Given the description of an element on the screen output the (x, y) to click on. 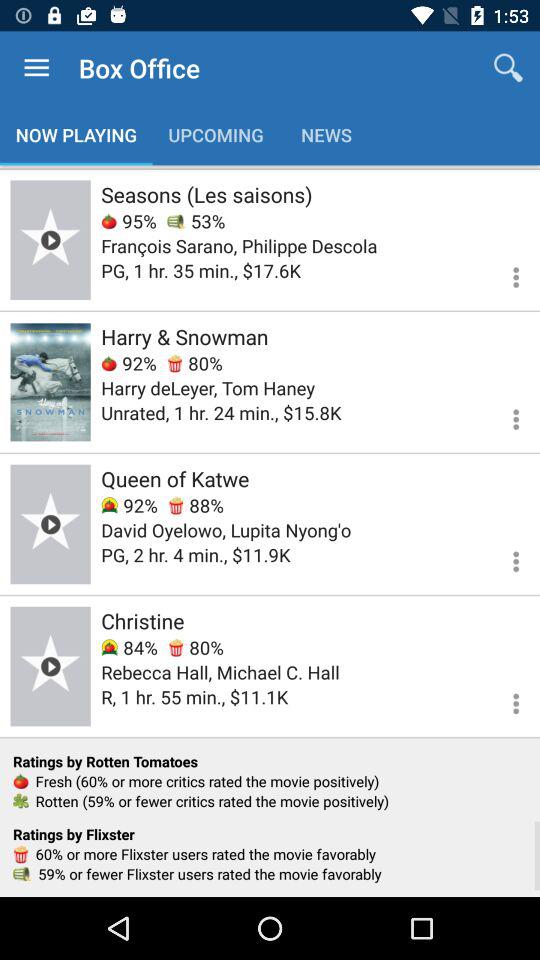
press item above 84% (142, 620)
